Given the description of an element on the screen output the (x, y) to click on. 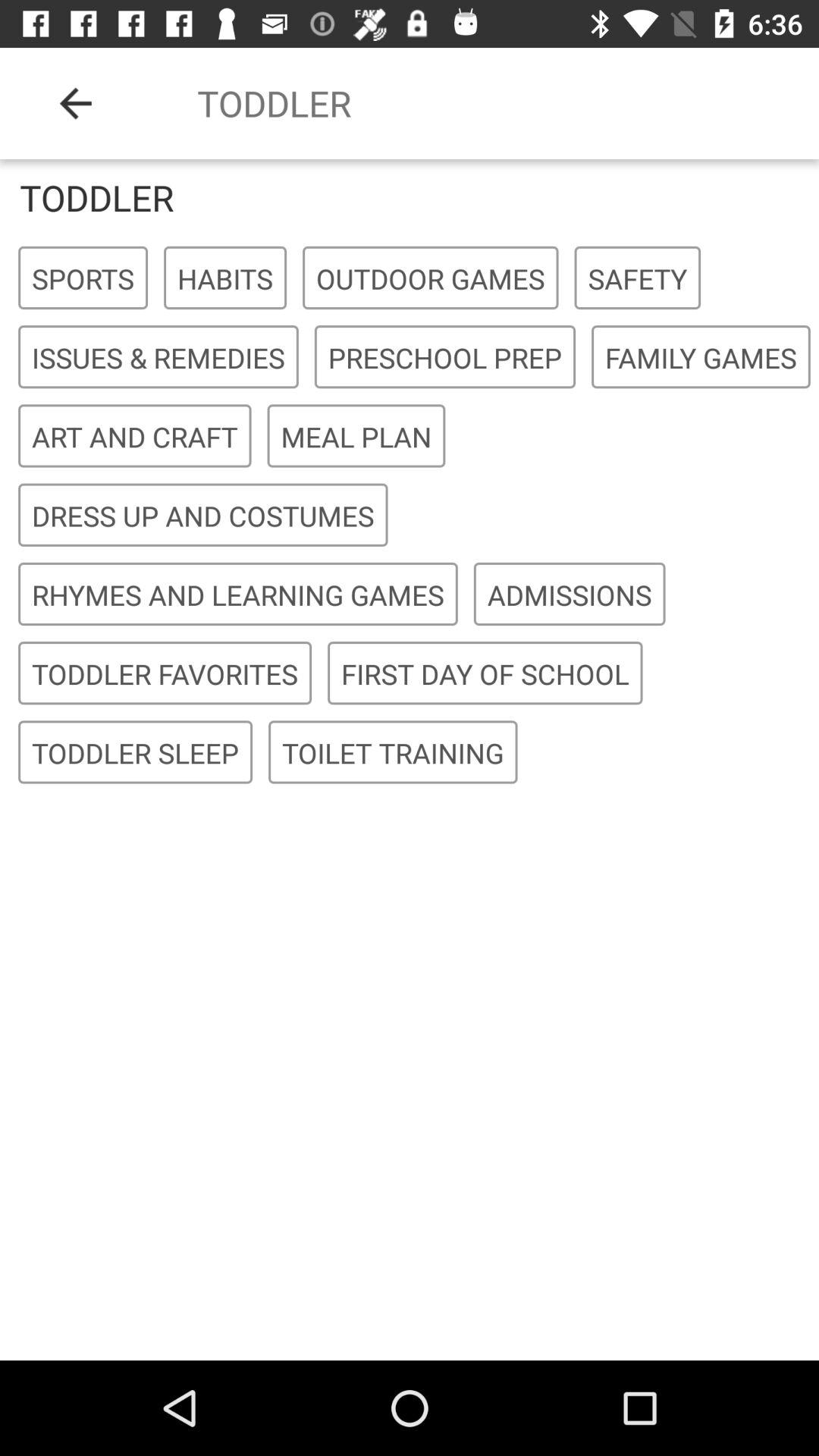
click icon to the left of the admissions (237, 594)
